Given the description of an element on the screen output the (x, y) to click on. 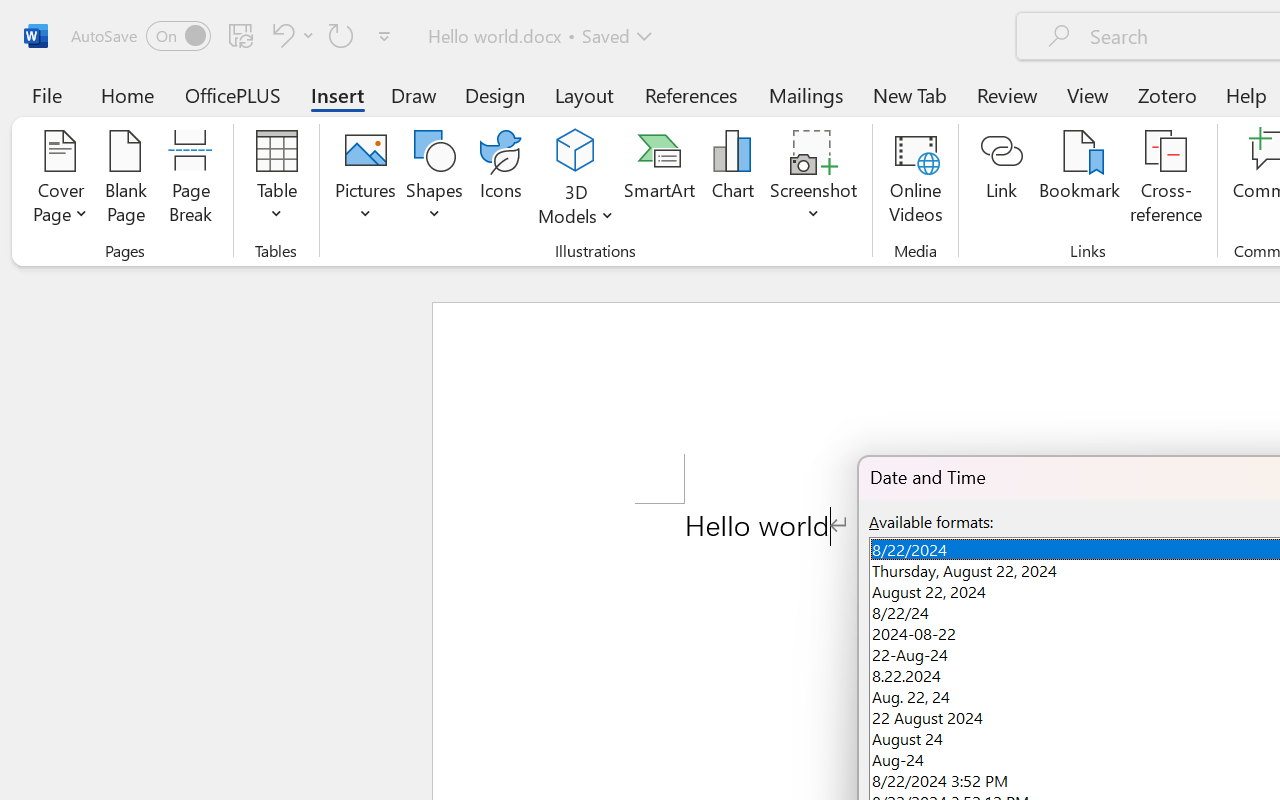
Reject Change (1096, 94)
Traditional (449, 112)
Translate (309, 114)
Delete (762, 114)
Reviewing Pane (1172, 141)
Thesaurus... (83, 114)
Show Comments (921, 114)
Check Accessibility (169, 114)
Simplified (449, 87)
